Given the description of an element on the screen output the (x, y) to click on. 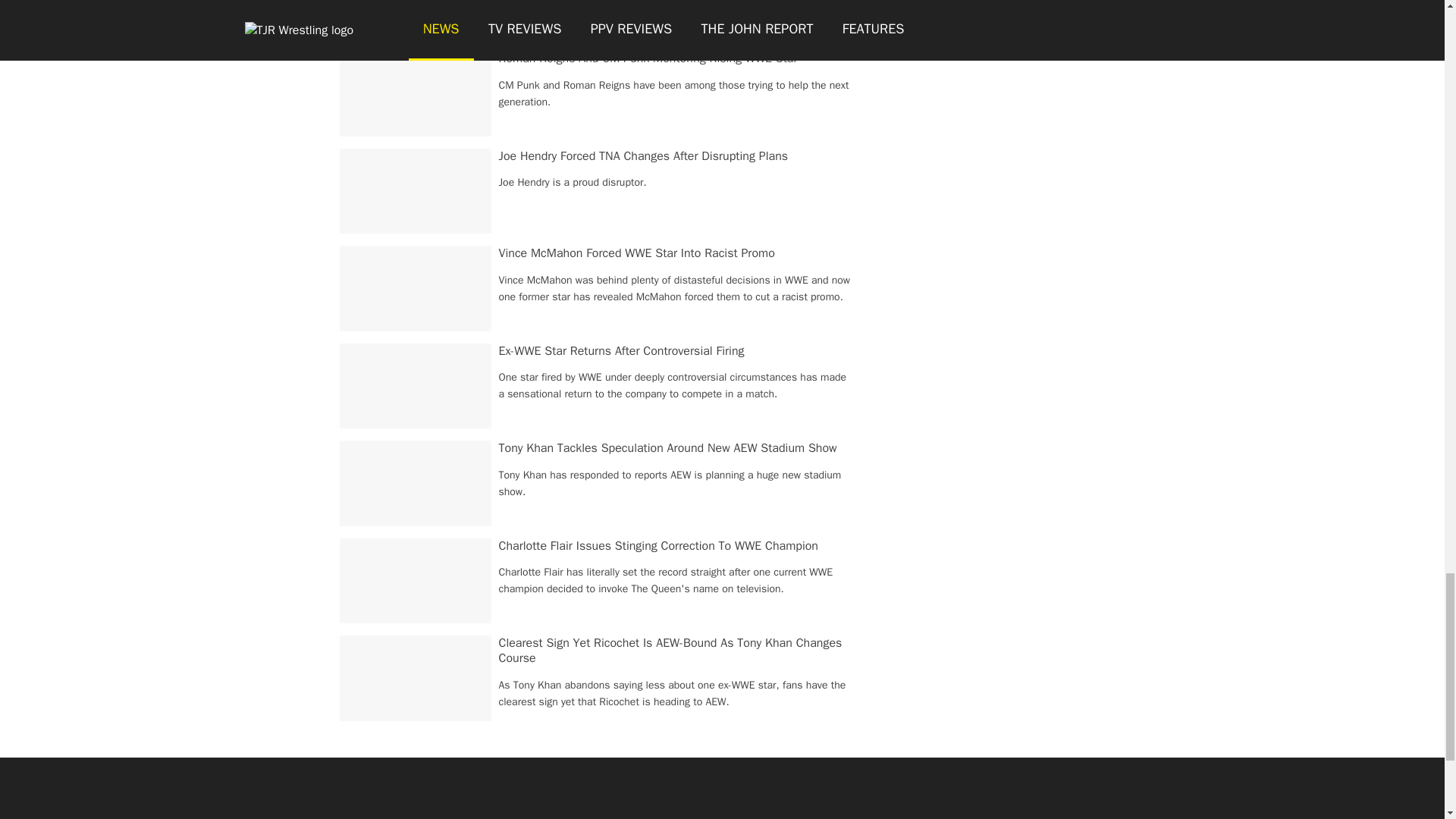
Joe Hendry Forced TNA Changes After Disrupting Plans (644, 155)
Roman Reigns And CM Punk Mentoring Rising WWE Star (648, 58)
Vince McMahon Forced WWE Star Into Racist Promo (636, 253)
